Given the description of an element on the screen output the (x, y) to click on. 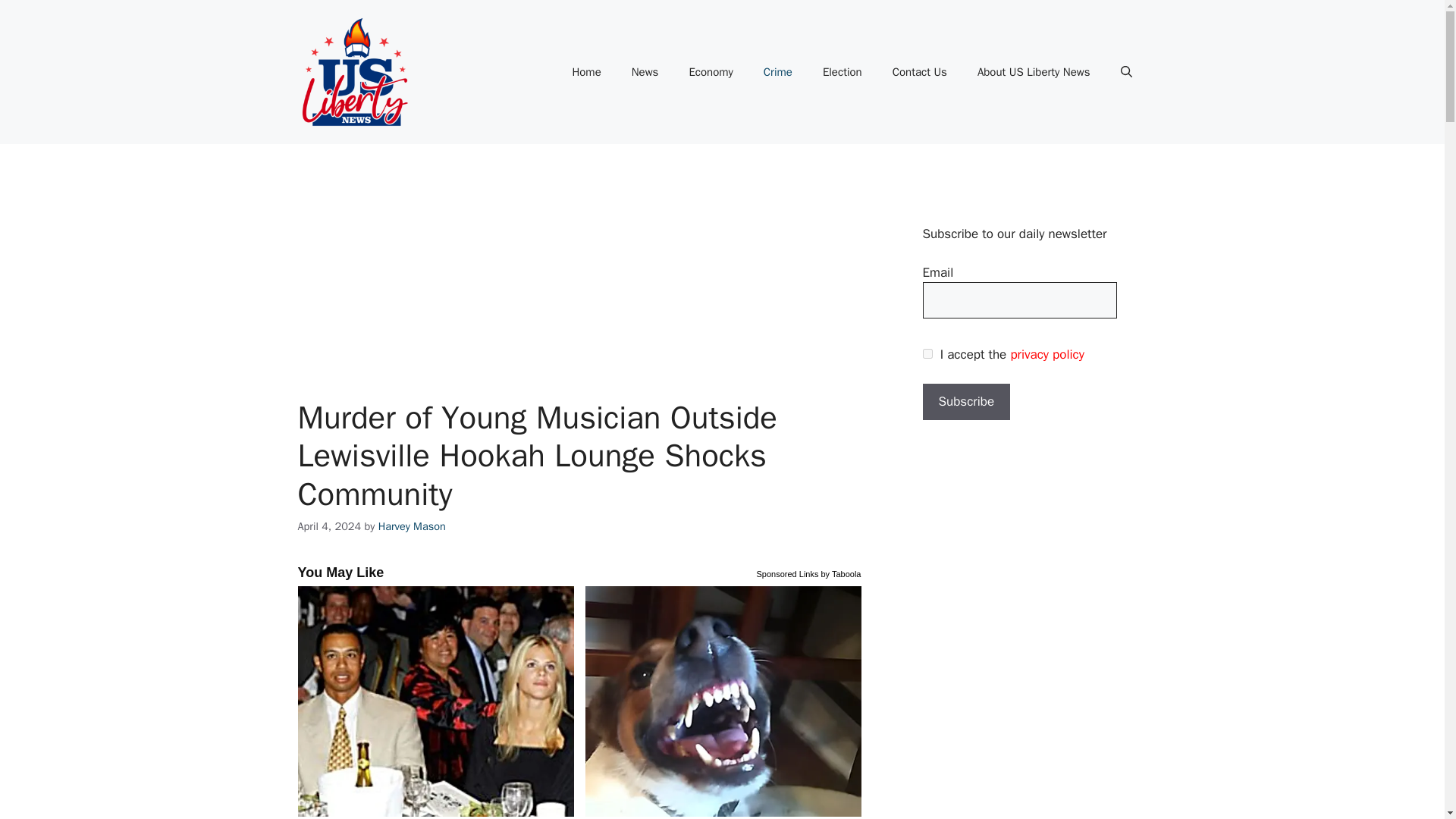
by Taboola (840, 572)
Subscribe (965, 402)
About US Liberty News (1033, 72)
Home (585, 72)
1 (926, 353)
Contact Us (919, 72)
Election (842, 72)
News (644, 72)
View all posts by Harvey Mason (411, 526)
Sponsored Links (787, 572)
Harvey Mason (411, 526)
Advertisement (600, 286)
Crime (778, 72)
Economy (710, 72)
